Given the description of an element on the screen output the (x, y) to click on. 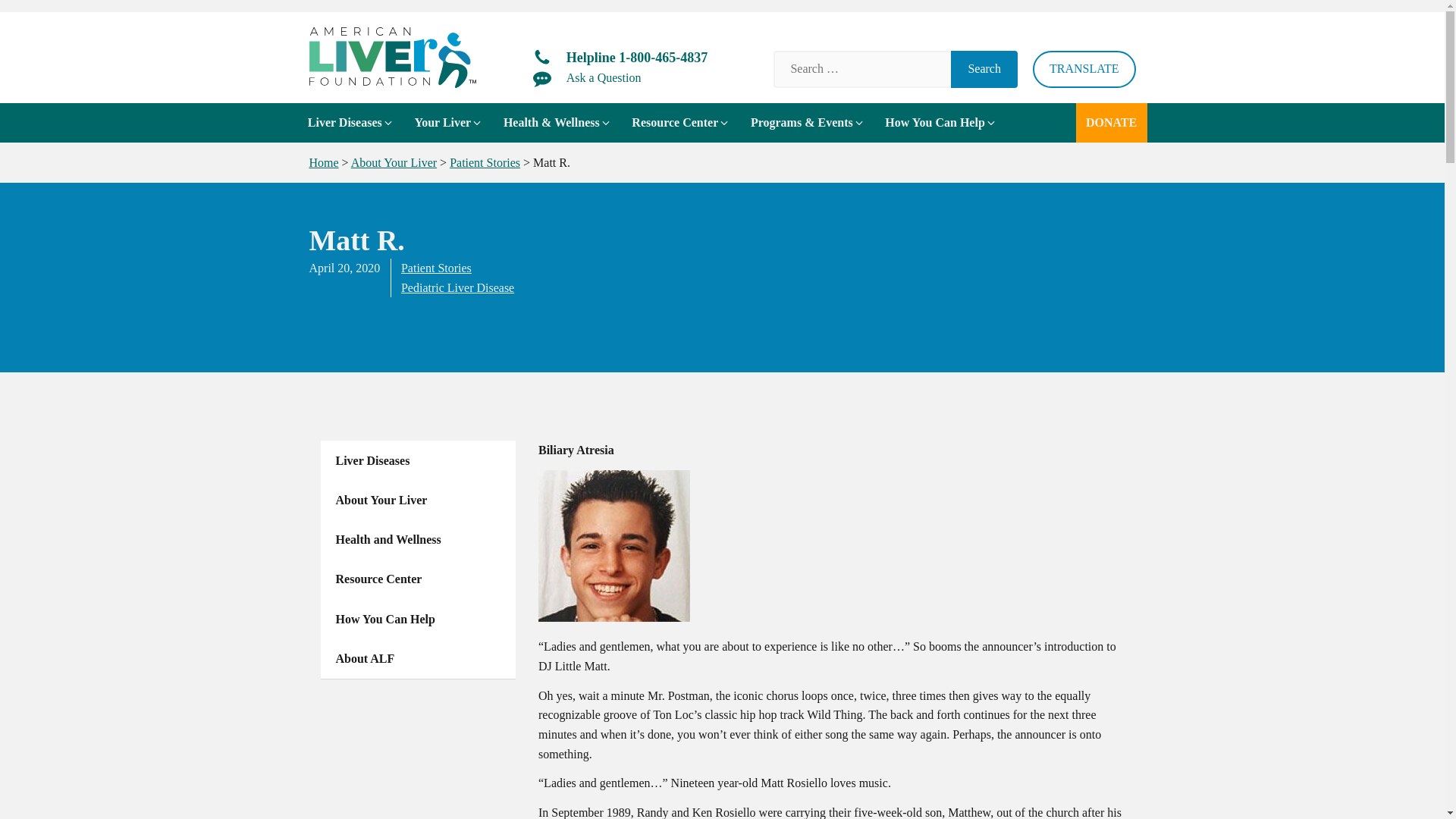
TRANSLATE (1083, 68)
Search (983, 68)
Go to About Your Liver. (393, 162)
Helpline 1-800-465-4837 (619, 57)
Search (983, 68)
Ask a Question (587, 77)
Go to American Liver Foundation. (323, 162)
Search (983, 68)
Go to Patient Stories. (484, 162)
Liver Diseases (350, 122)
